Given the description of an element on the screen output the (x, y) to click on. 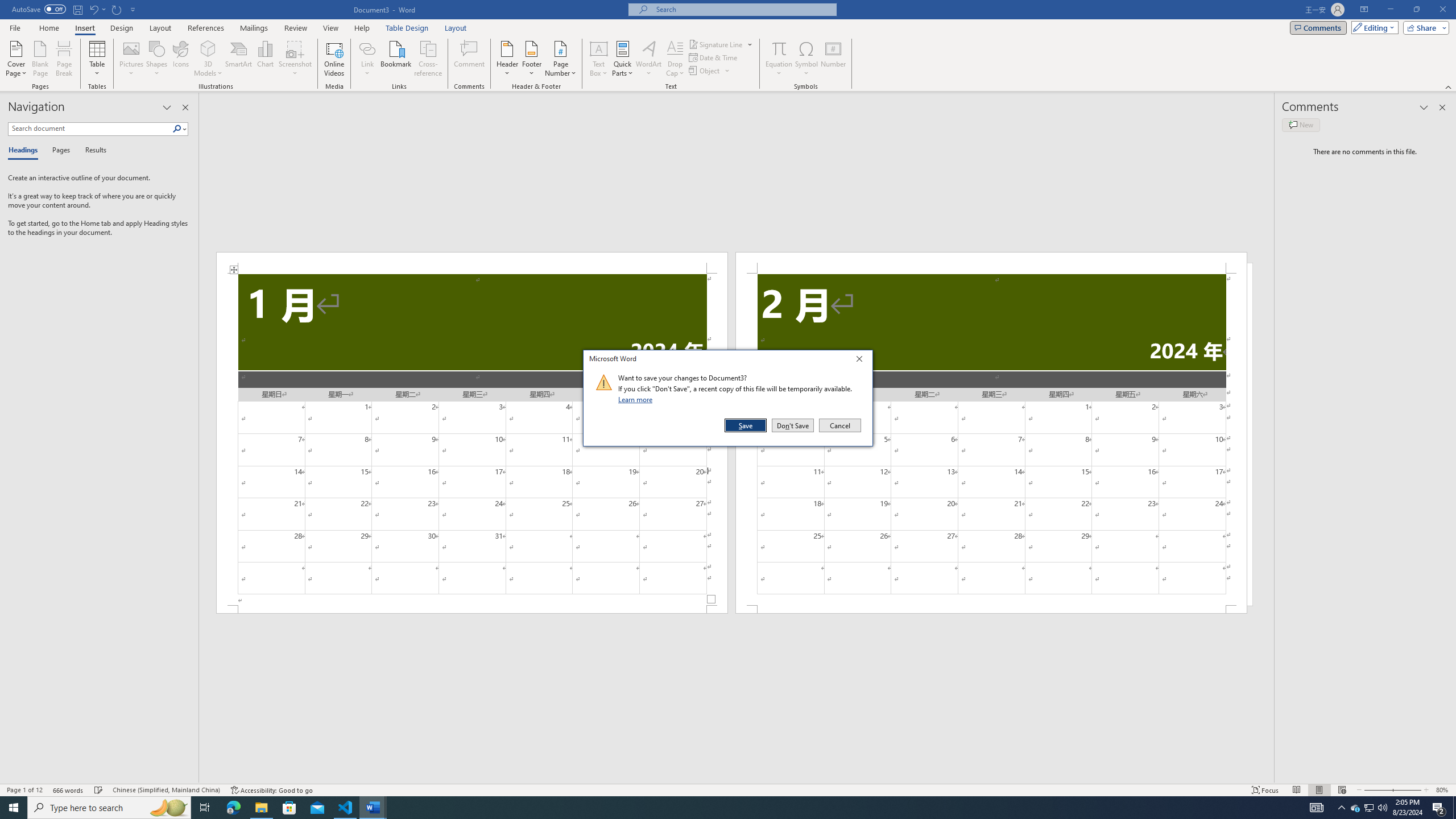
Quick Parts (622, 58)
